Given the description of an element on the screen output the (x, y) to click on. 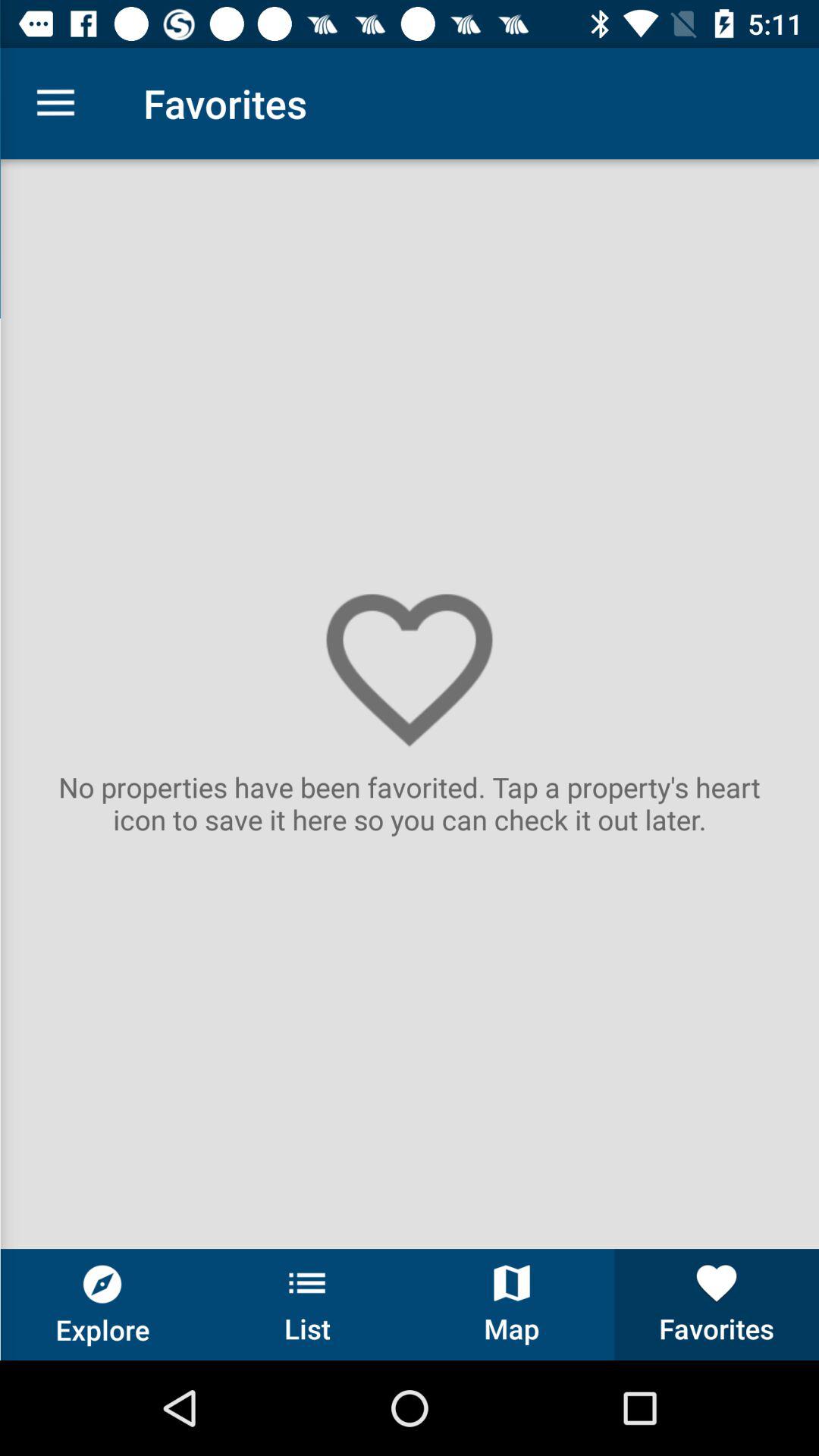
turn on the icon to the left of the list item (102, 1304)
